Given the description of an element on the screen output the (x, y) to click on. 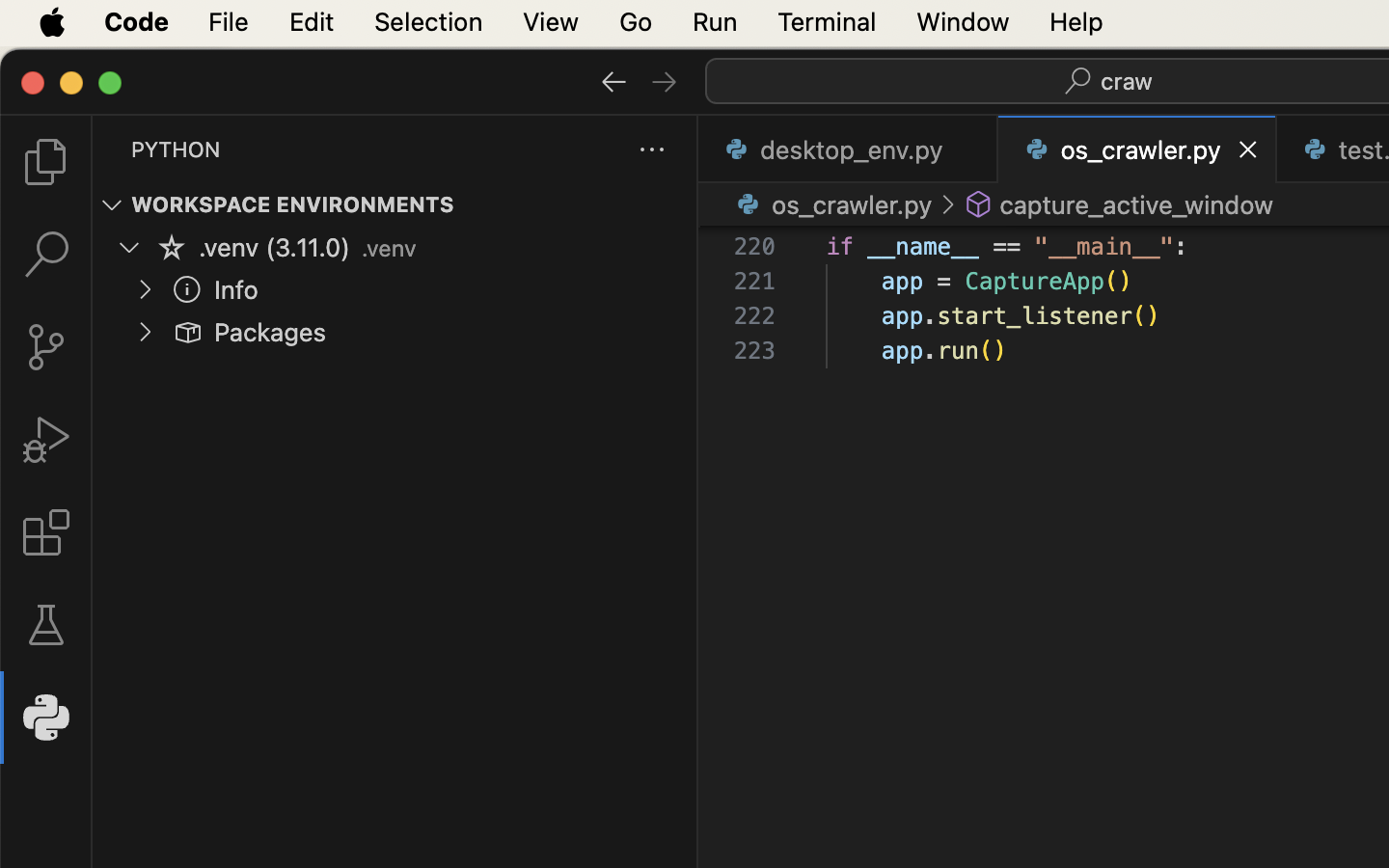
 Element type: AXButton (664, 80)
 Element type: AXStaticText (186, 288)
 Element type: AXStaticText (171, 246)
 Element type: AXGroup (46, 624)
 Element type: AXStaticText (978, 204)
